Given the description of an element on the screen output the (x, y) to click on. 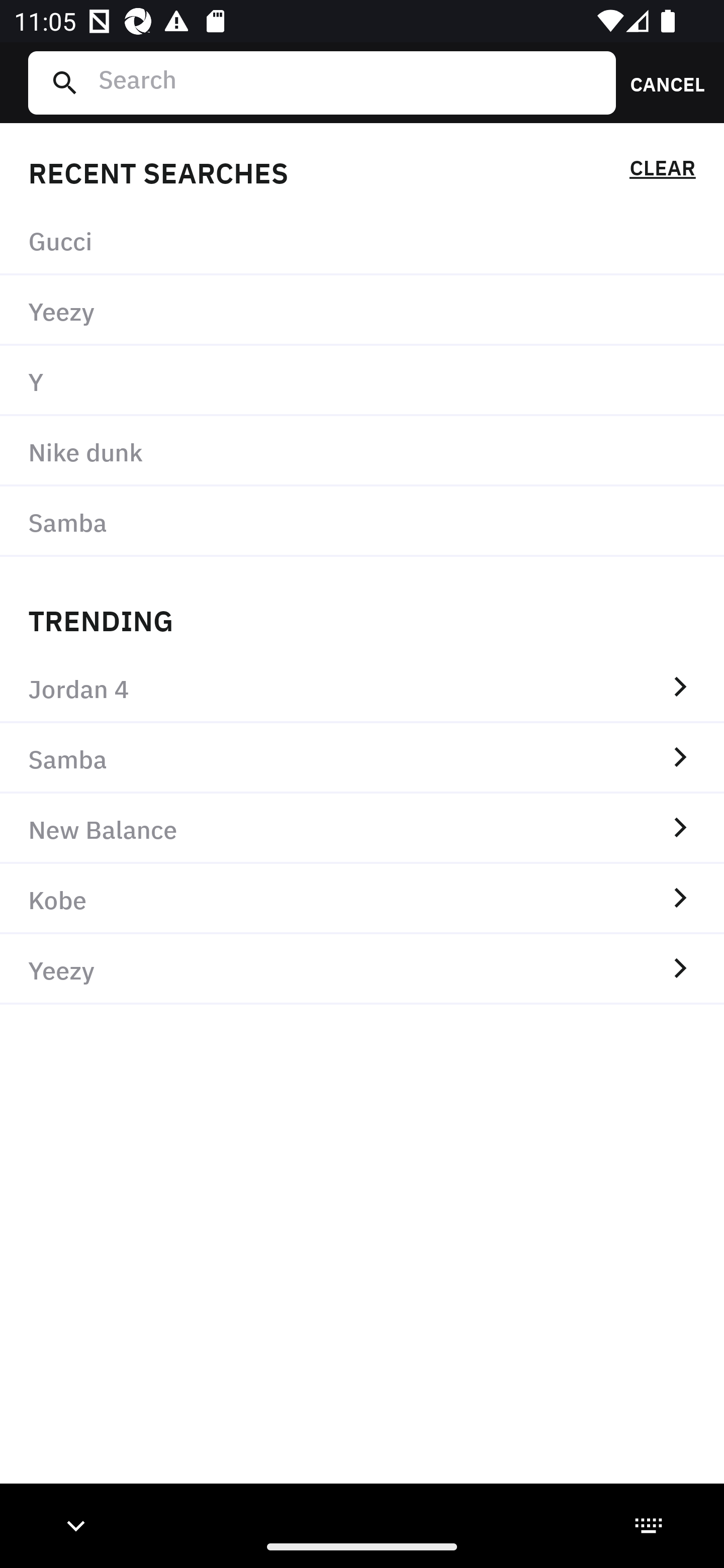
CANCEL (660, 82)
Search (349, 82)
CLEAR (662, 170)
Gucci (362, 240)
Yeezy (362, 310)
Y (362, 380)
Nike dunk (362, 450)
Samba (362, 521)
Jordan 4  (362, 687)
Samba  (362, 757)
New Balance  (362, 828)
Kobe  (362, 898)
Yeezy  (362, 969)
